Given the description of an element on the screen output the (x, y) to click on. 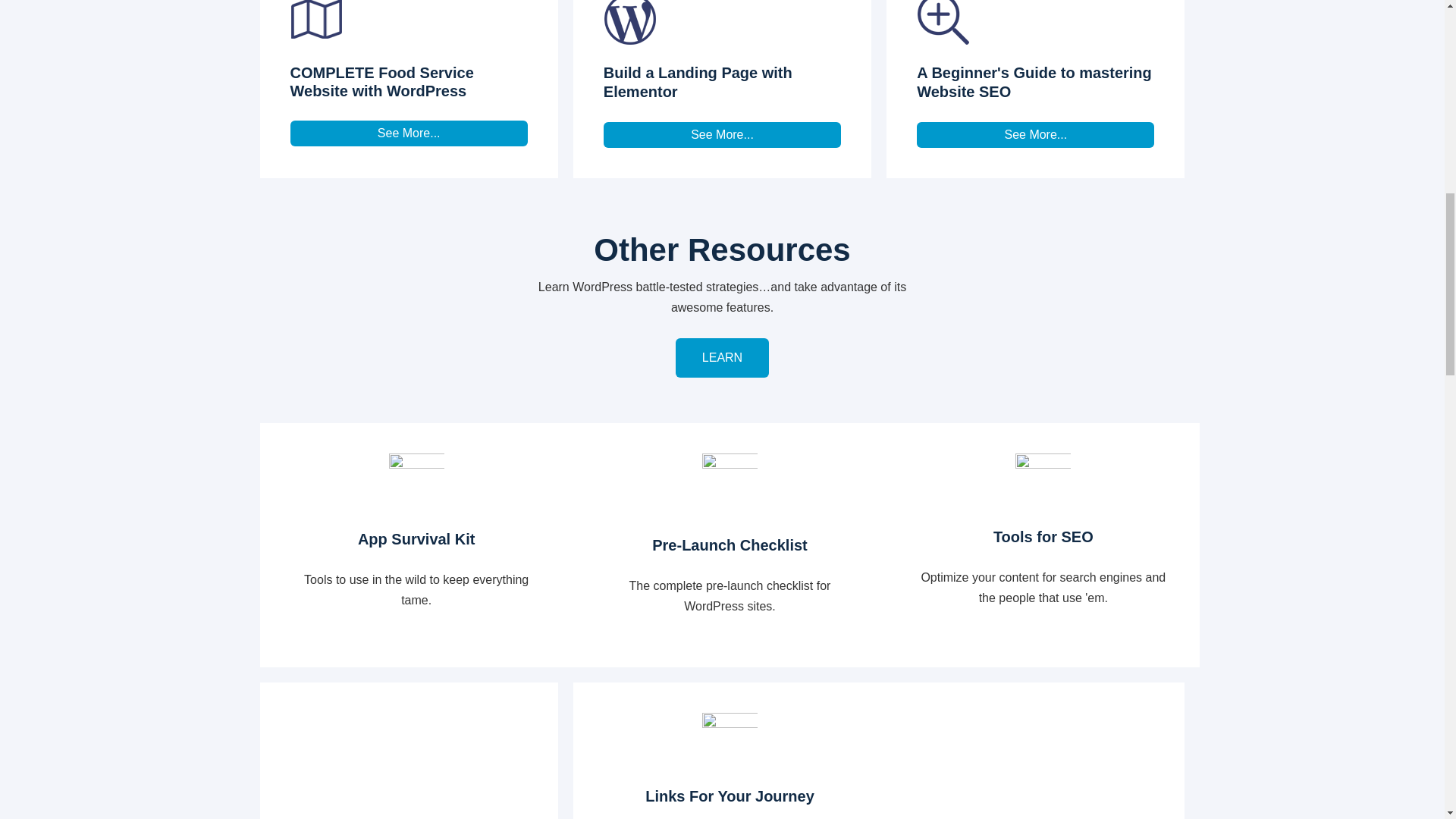
COMPLETE Food Service Website with WordPress (381, 81)
LEARN (721, 357)
Build a Landing Page with Elementor (698, 81)
See More... (1035, 135)
See More... (722, 135)
Tools for SEO (1043, 537)
Links For Your Journey (730, 796)
App Survival Kit (415, 538)
A Beginner's Guide to mastering Website SEO (1034, 81)
Pre-Launch Checklist (730, 545)
